Given the description of an element on the screen output the (x, y) to click on. 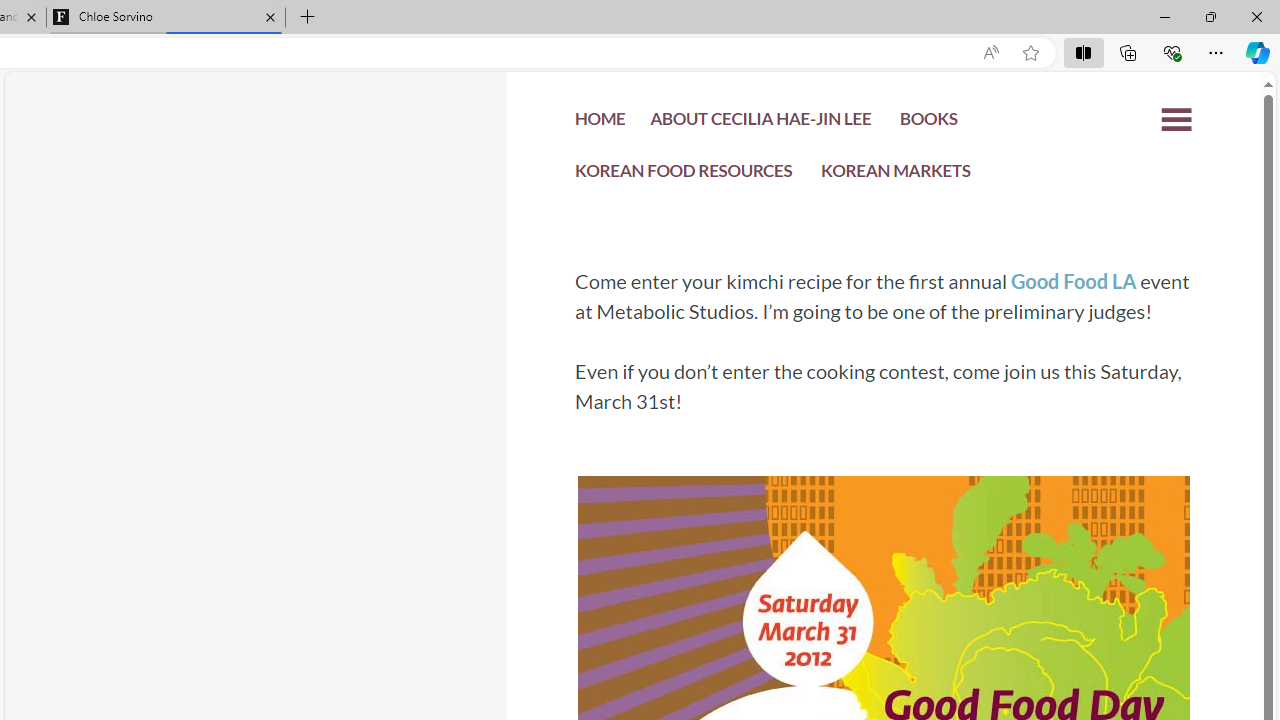
BOOKS (928, 124)
Chloe Sorvino (166, 17)
Good Food LA (1072, 281)
Browser essentials (1171, 52)
KOREAN MARKETS (895, 173)
Copilot (Ctrl+Shift+.) (1258, 52)
Settings and more (Alt+F) (1215, 52)
KOREAN FOOD RESOURCES (683, 173)
HOME (599, 121)
HOME (599, 124)
